Given the description of an element on the screen output the (x, y) to click on. 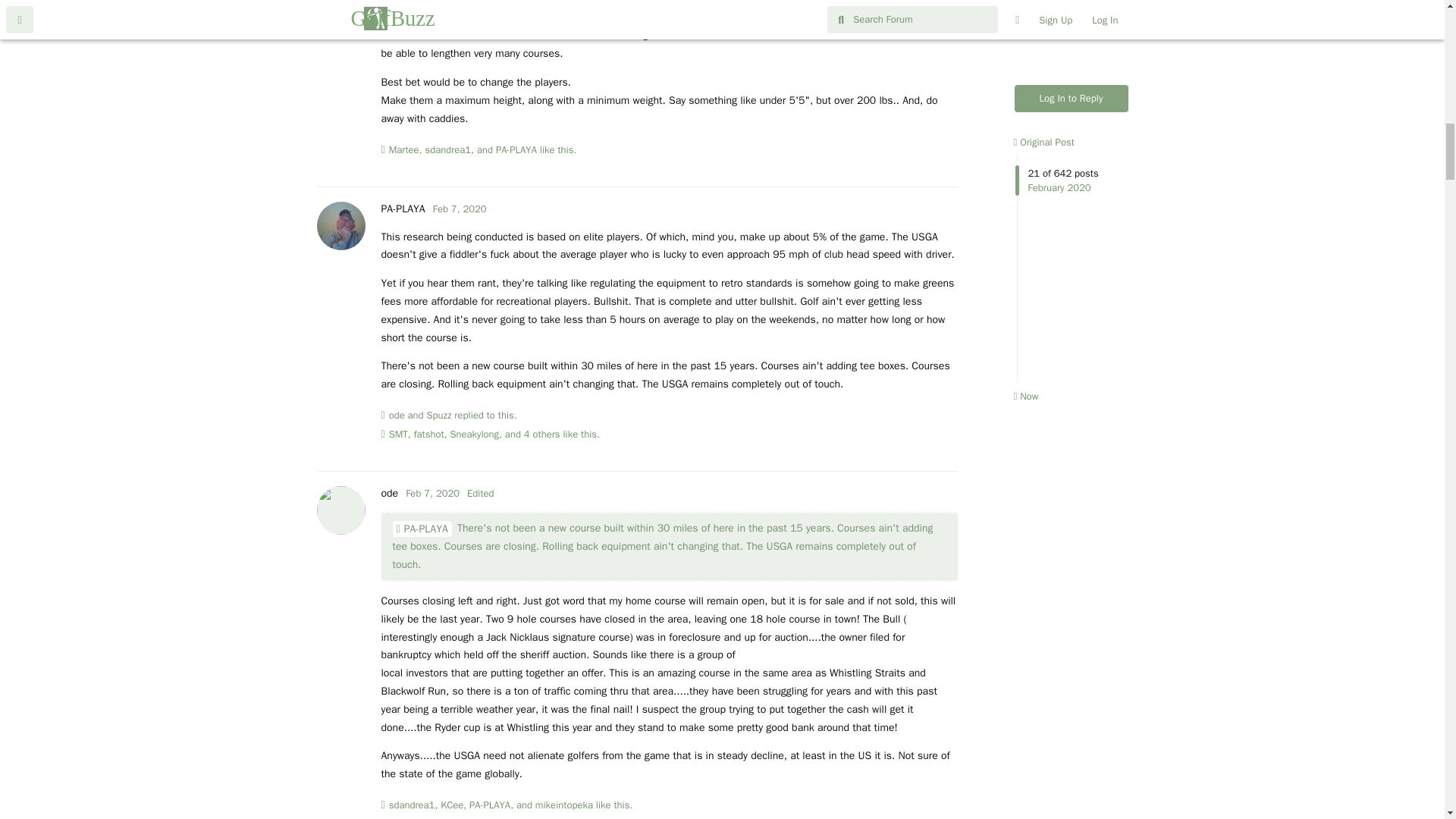
Feb 7, 2020 (433, 492)
Friday, February 7, 2020 4:04 PM (459, 208)
Martee (403, 150)
SMT (397, 434)
KCee (452, 805)
PA-PLAYA (422, 528)
Feb 7, 2020 (459, 208)
PA-PLAYA (516, 150)
sdandrea1 (411, 805)
Spuzz (438, 415)
